Given the description of an element on the screen output the (x, y) to click on. 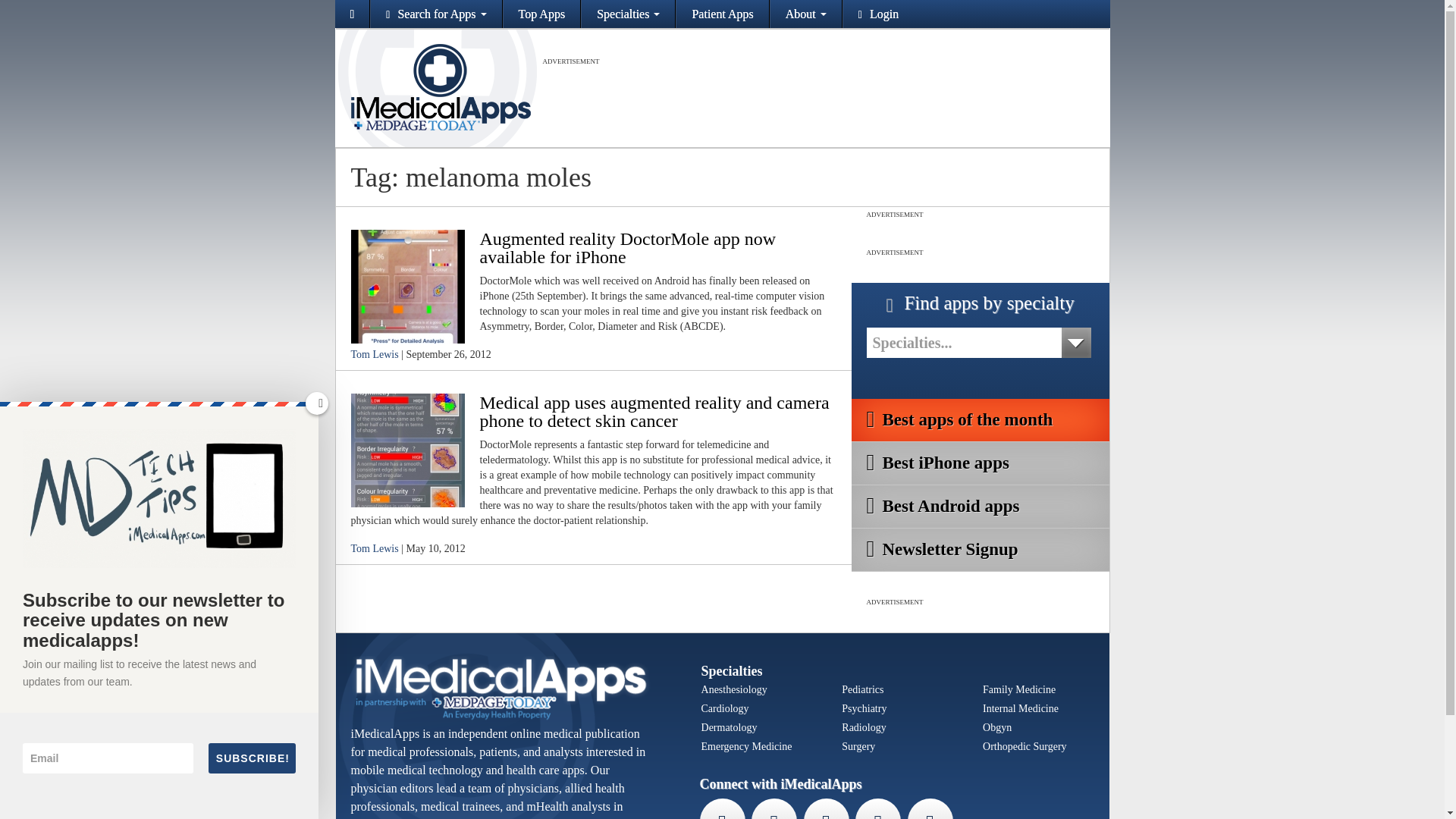
Patient Apps (722, 13)
Search for Apps (435, 13)
Top Apps (541, 13)
About (805, 13)
Augmented reality DoctorMole app now available for iPhone (627, 247)
Specialties (627, 13)
Augmented reality DoctorMole app now available for iPhone (407, 285)
